Given the description of an element on the screen output the (x, y) to click on. 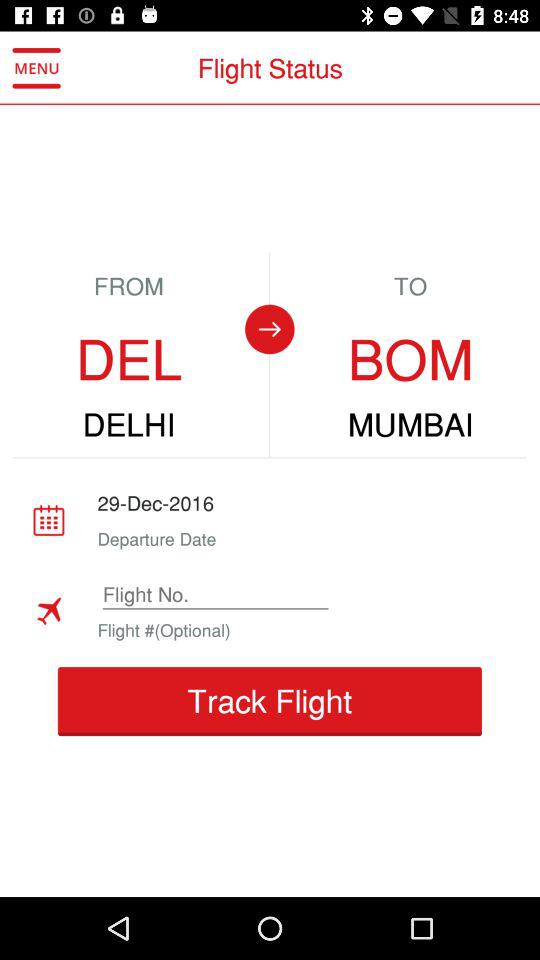
launch the item above the flight #(optional) icon (215, 594)
